Given the description of an element on the screen output the (x, y) to click on. 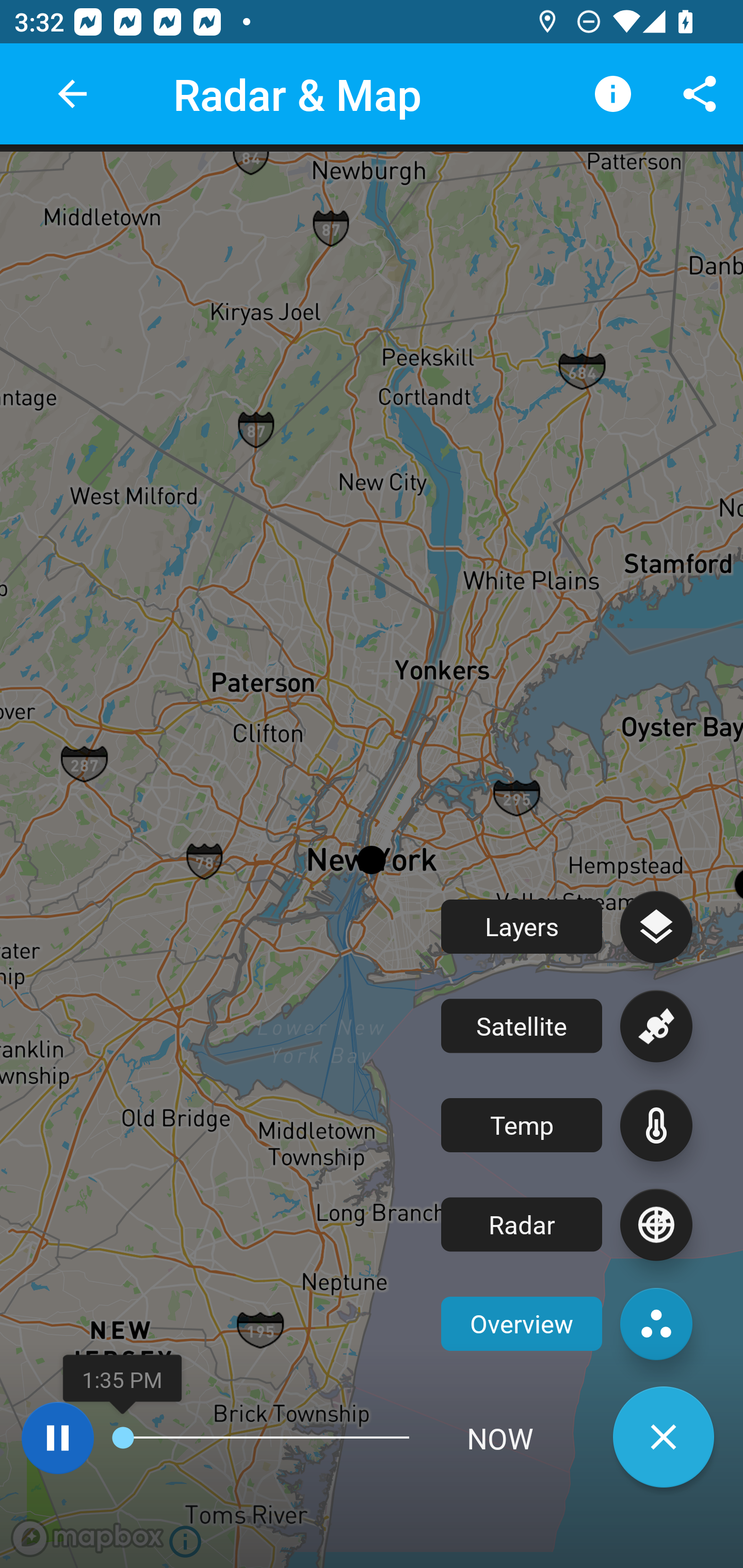
back (71, 93)
Legend (612, 93)
Share (699, 93)
Layers (566, 926)
Satellite (566, 1026)
Temp (566, 1125)
Radar (566, 1224)
Overview (566, 1323)
Close layers menu. (663, 1437)
Pause map layers animation. (57, 1437)
